Given the description of an element on the screen output the (x, y) to click on. 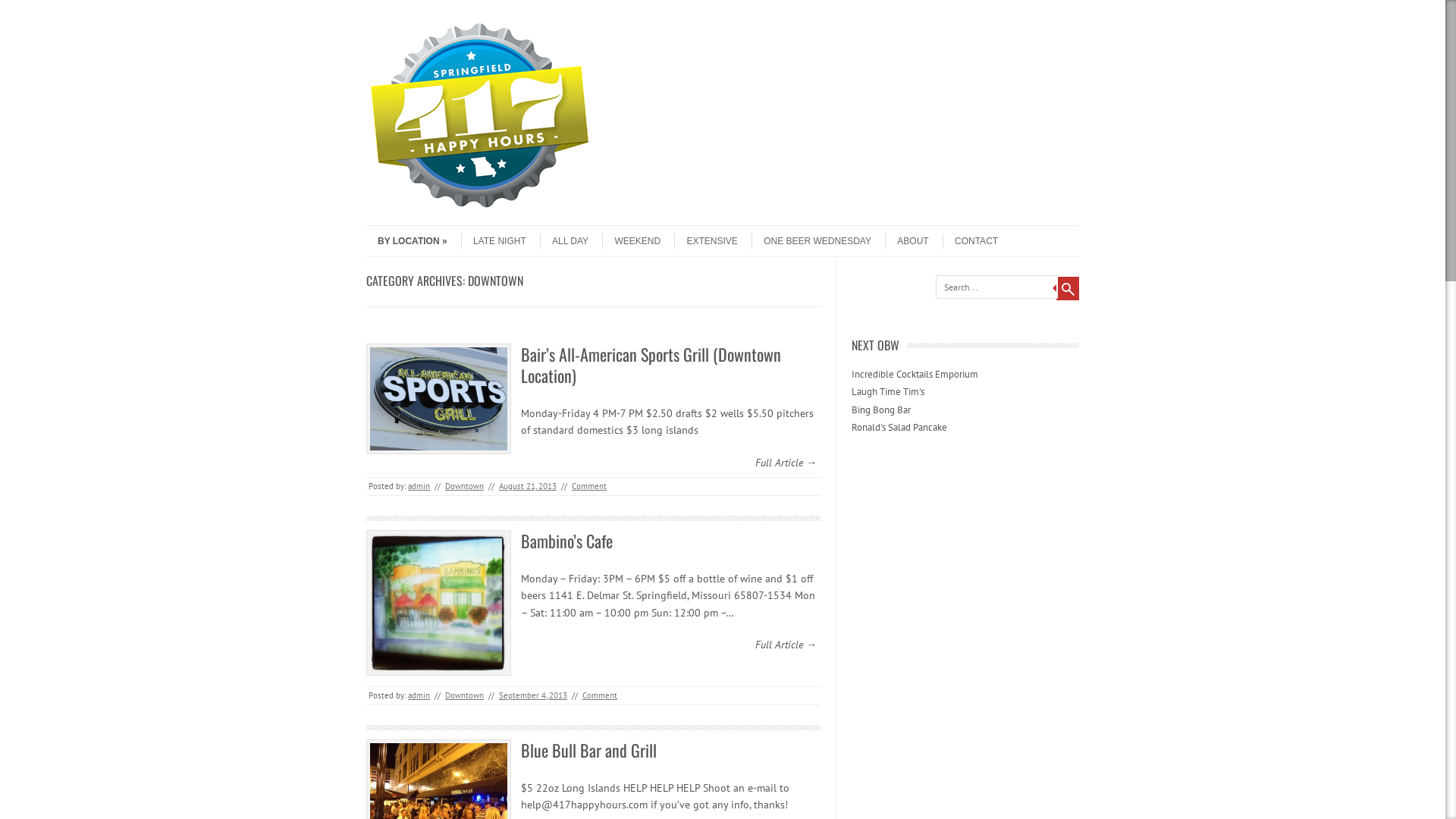
CONTACT Element type: text (969, 240)
Comment Element type: text (599, 695)
LATE NIGHT Element type: text (493, 240)
WEEKEND Element type: text (631, 240)
Blue Bull Bar and Grill Element type: text (588, 749)
admin Element type: text (418, 695)
EXTENSIVE Element type: text (705, 240)
Downtown Element type: text (464, 485)
Downtown Element type: text (464, 695)
August 21, 2013 Element type: text (527, 485)
BY LOCATION Element type: text (406, 240)
September 4, 2013 Element type: text (532, 695)
417HappyHours.com Element type: hover (479, 212)
ABOUT Element type: text (906, 240)
admin Element type: text (418, 485)
Skip to content Element type: text (396, 230)
Comment Element type: text (588, 485)
ALL DAY Element type: text (563, 240)
Search Element type: text (1067, 288)
ONE BEER WEDNESDAY Element type: text (811, 240)
